Given the description of an element on the screen output the (x, y) to click on. 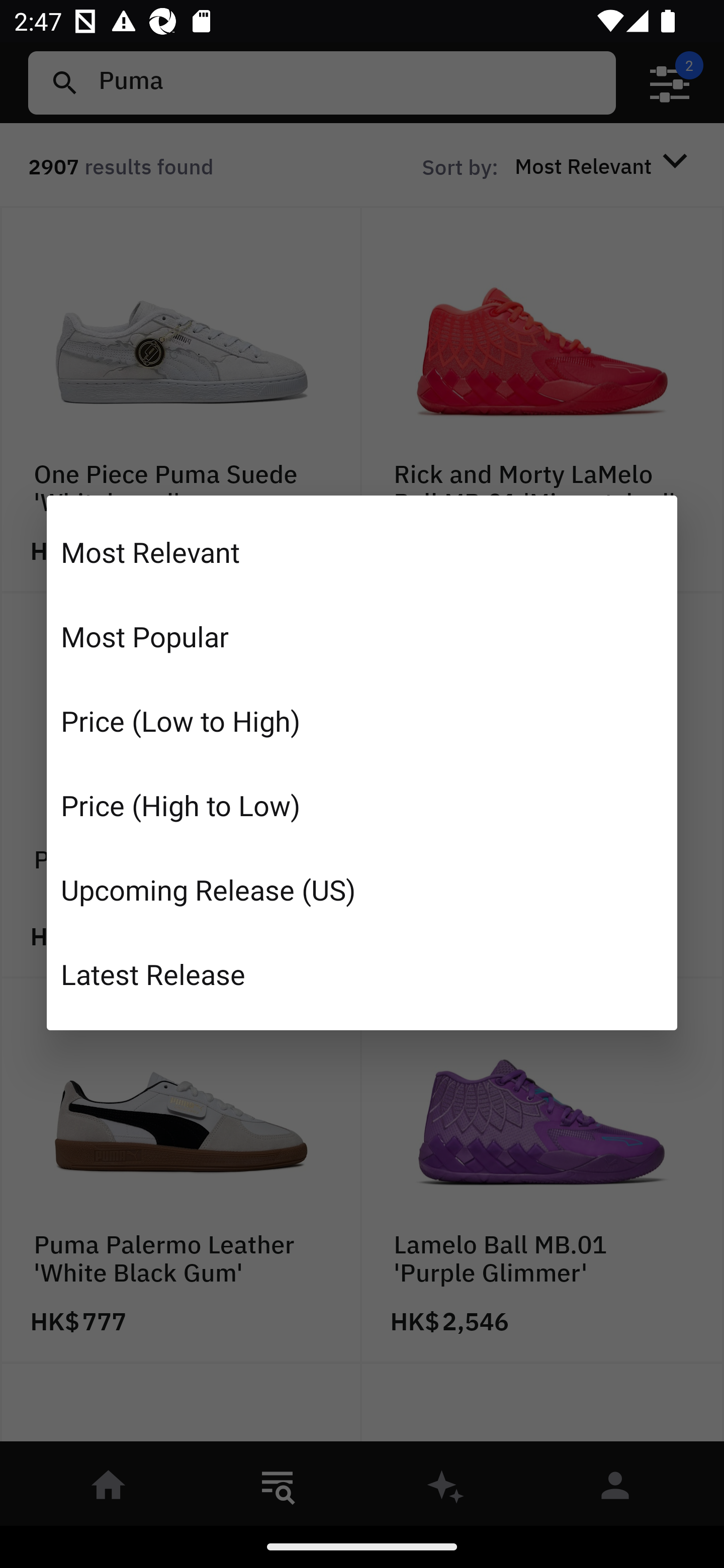
Most Relevant (361, 551)
Most Popular (361, 636)
Price (Low to High) (361, 720)
Price (High to Low) (361, 804)
Upcoming Release (US) (361, 888)
Latest Release (361, 973)
